Given the description of an element on the screen output the (x, y) to click on. 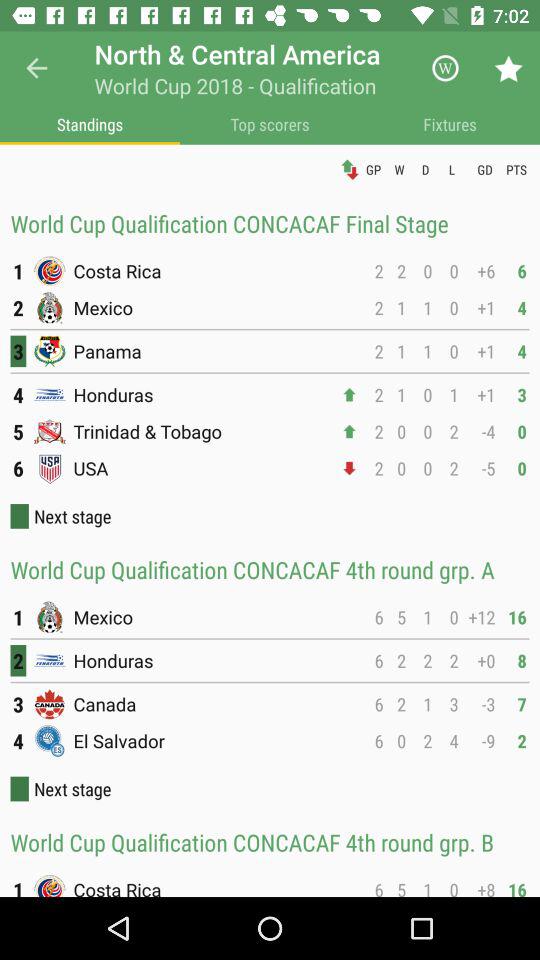
choose the item above the fixtures item (508, 67)
